Given the description of an element on the screen output the (x, y) to click on. 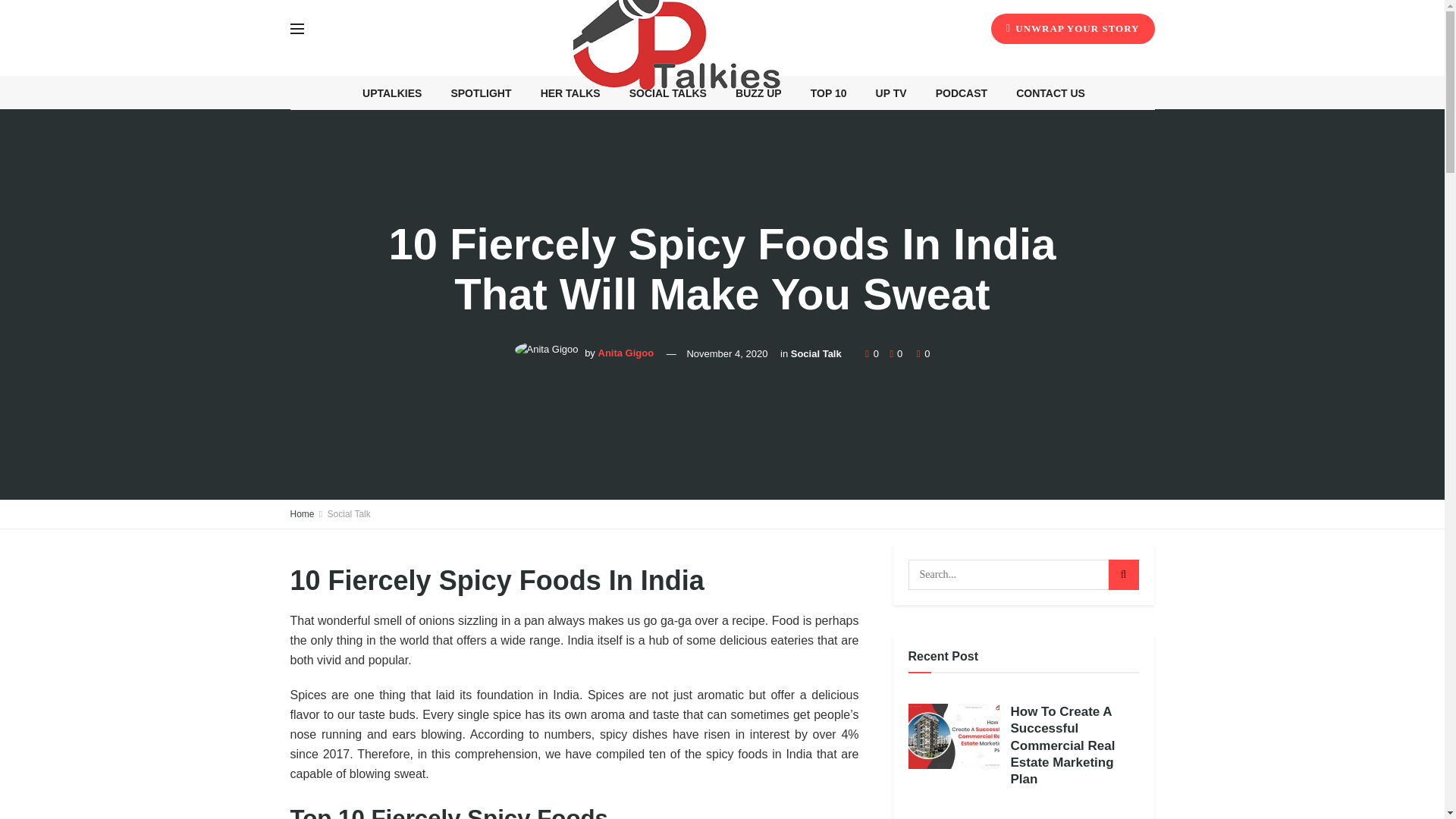
HER TALKS (569, 92)
UP TV (890, 92)
Anita Gigoo (624, 353)
0 (892, 353)
TOP 10 (828, 92)
BUZZ UP (757, 92)
UNWRAP YOUR STORY (1072, 28)
CONTACT US (1051, 92)
0 (872, 353)
SPOTLIGHT (480, 92)
SOCIAL TALKS (667, 92)
PODCAST (961, 92)
UPTALKIES (392, 92)
November 4, 2020 (726, 353)
Social Talk (815, 353)
